Given the description of an element on the screen output the (x, y) to click on. 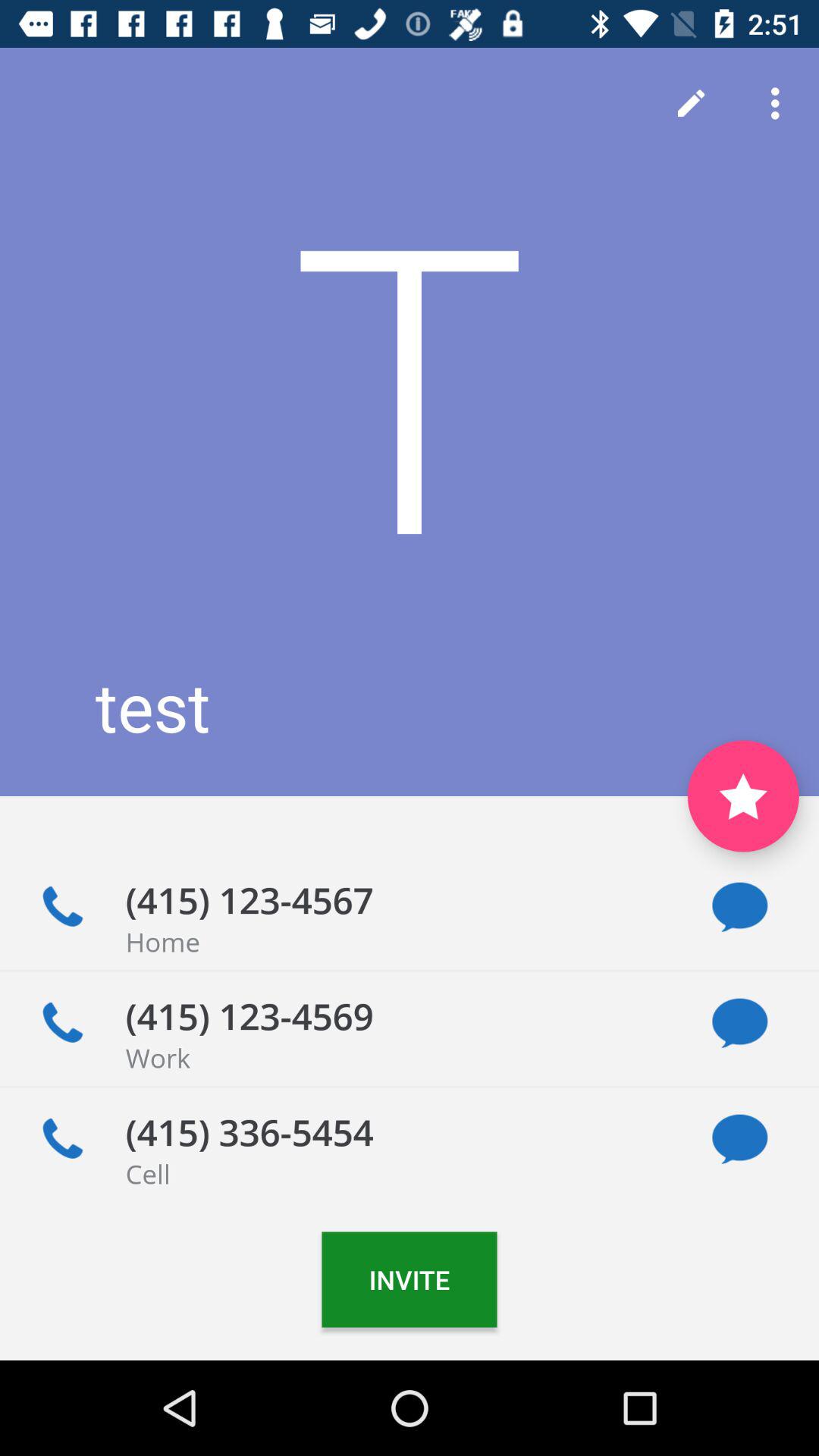
make a call (62, 1023)
